Given the description of an element on the screen output the (x, y) to click on. 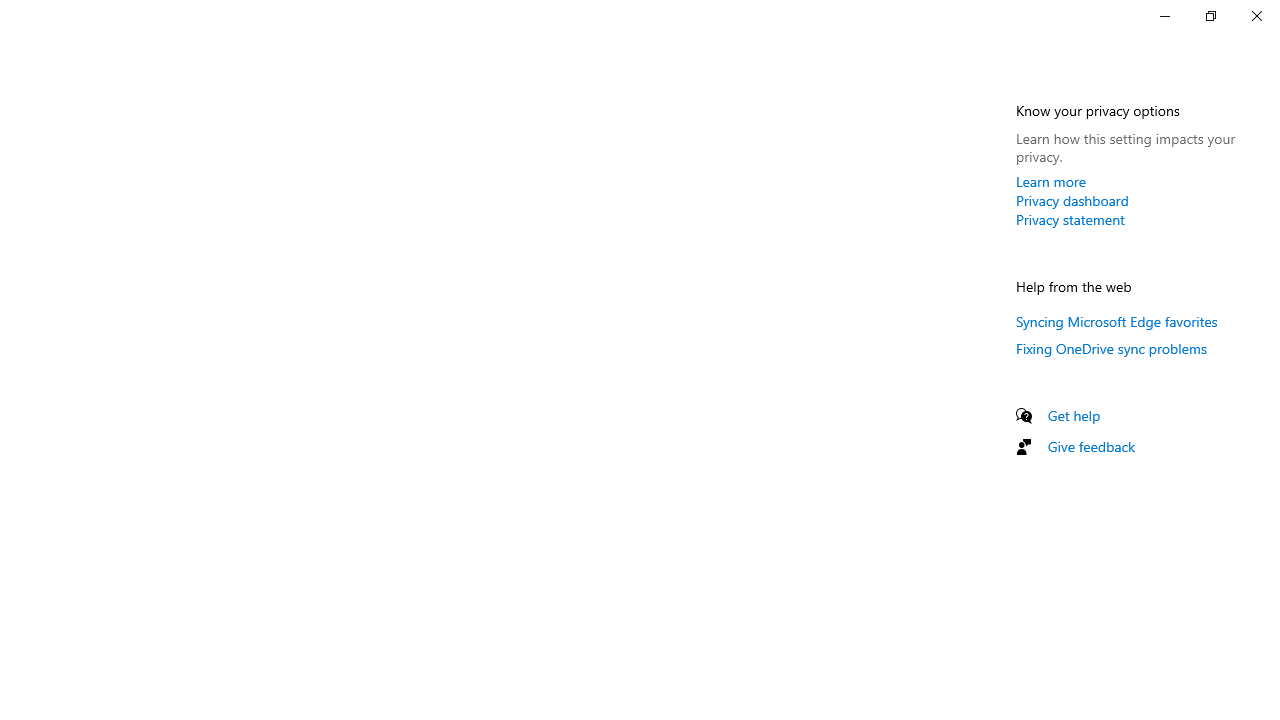
Privacy statement (1070, 219)
Get help (1074, 415)
Minimize Settings (1164, 15)
Fixing OneDrive sync problems (1111, 348)
Close Settings (1256, 15)
Restore Settings (1210, 15)
Privacy dashboard (1072, 200)
Syncing Microsoft Edge favorites (1117, 321)
Learn more (1051, 181)
Give feedback (1091, 446)
